Given the description of an element on the screen output the (x, y) to click on. 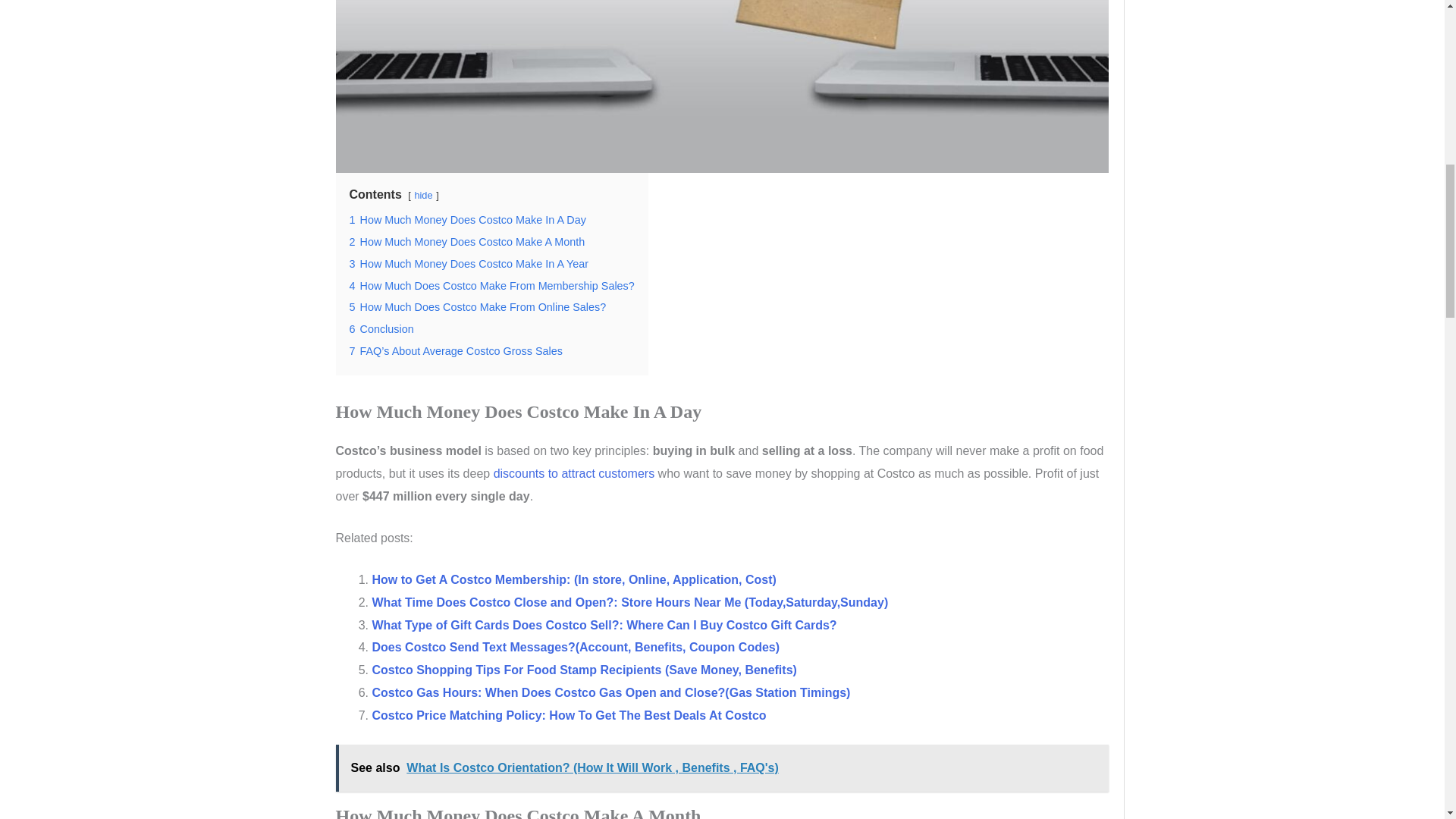
hide (422, 194)
